Given the description of an element on the screen output the (x, y) to click on. 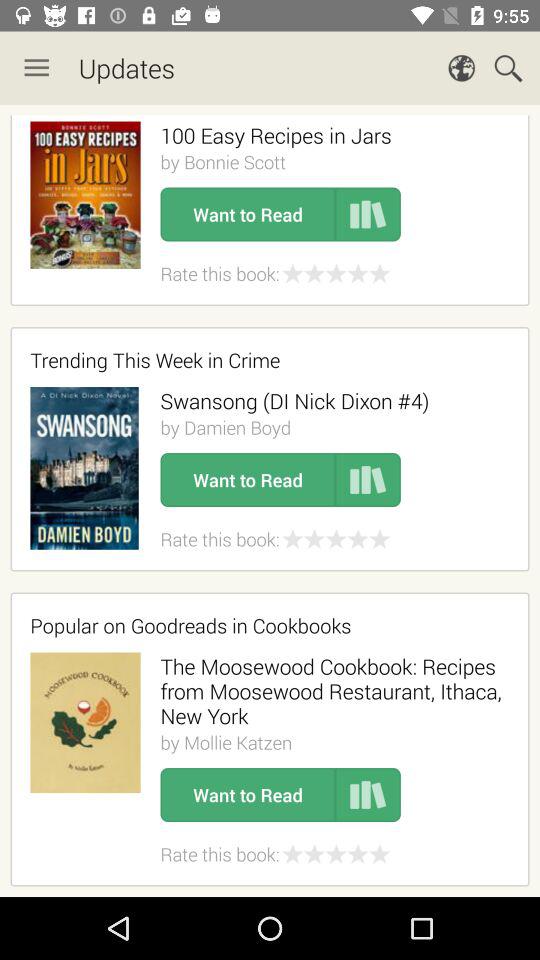
scroll to the swansong di nick icon (294, 400)
